Given the description of an element on the screen output the (x, y) to click on. 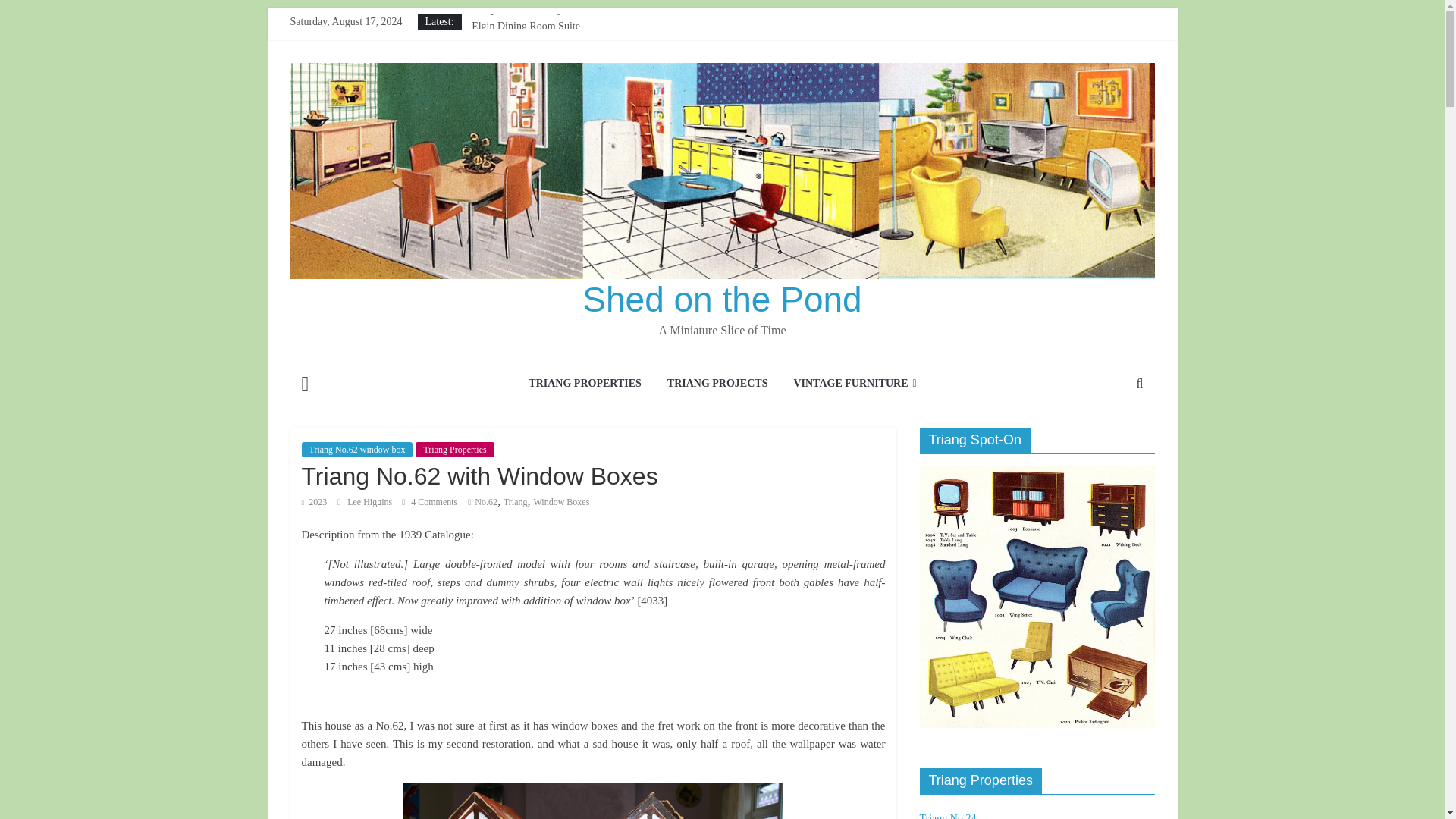
TRIANG PROJECTS (717, 384)
Elgin Dining Room Suite (525, 25)
Jennys Home Living Room (529, 76)
Jennys Home Dining Room (530, 9)
2023 (314, 501)
Jennys Home New Furniture Range (547, 42)
Jennys Home Bedroom (520, 60)
Triang (515, 501)
Lee Higgins (370, 501)
